Given the description of an element on the screen output the (x, y) to click on. 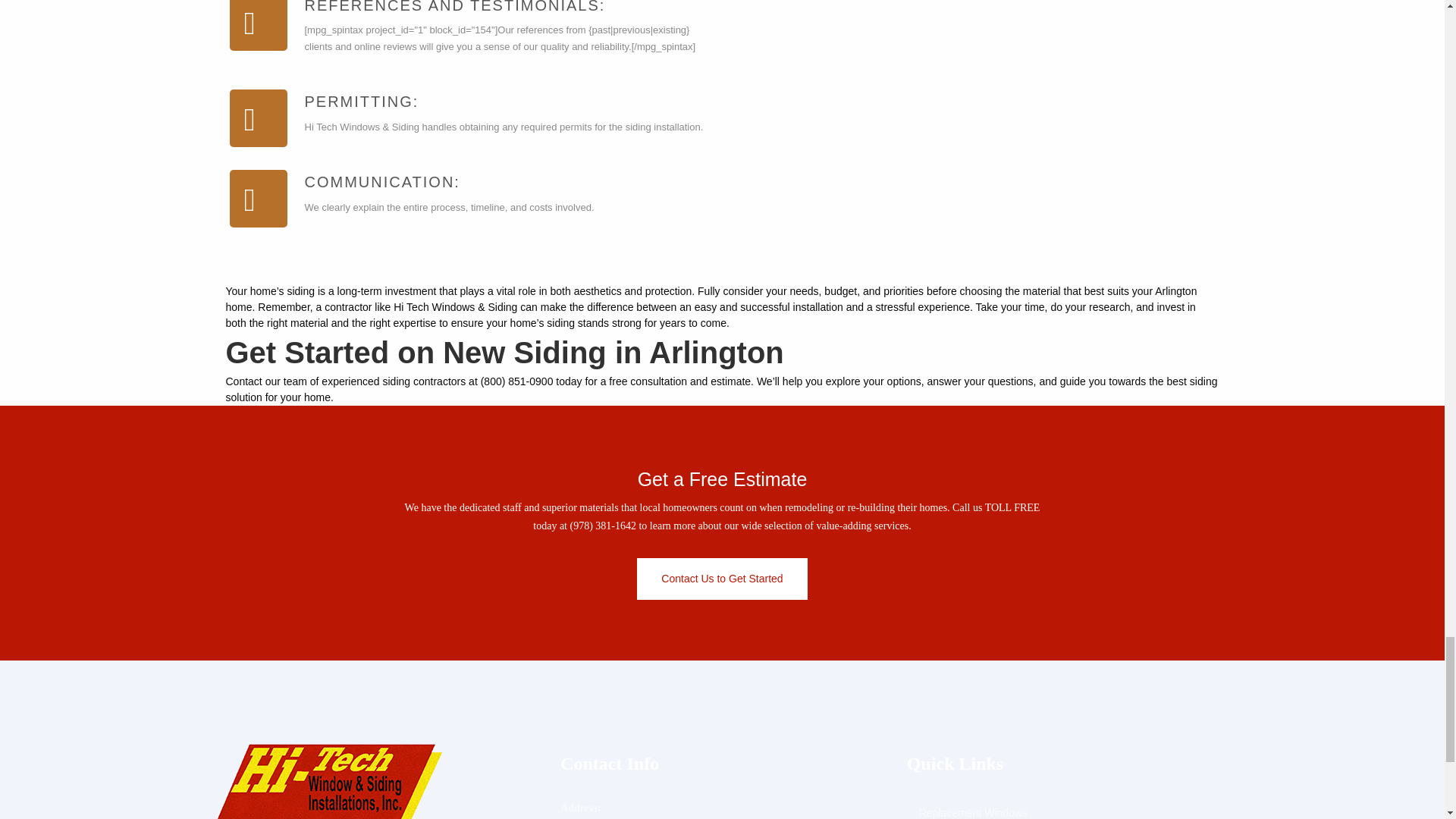
siding-contractor (961, 141)
